Given the description of an element on the screen output the (x, y) to click on. 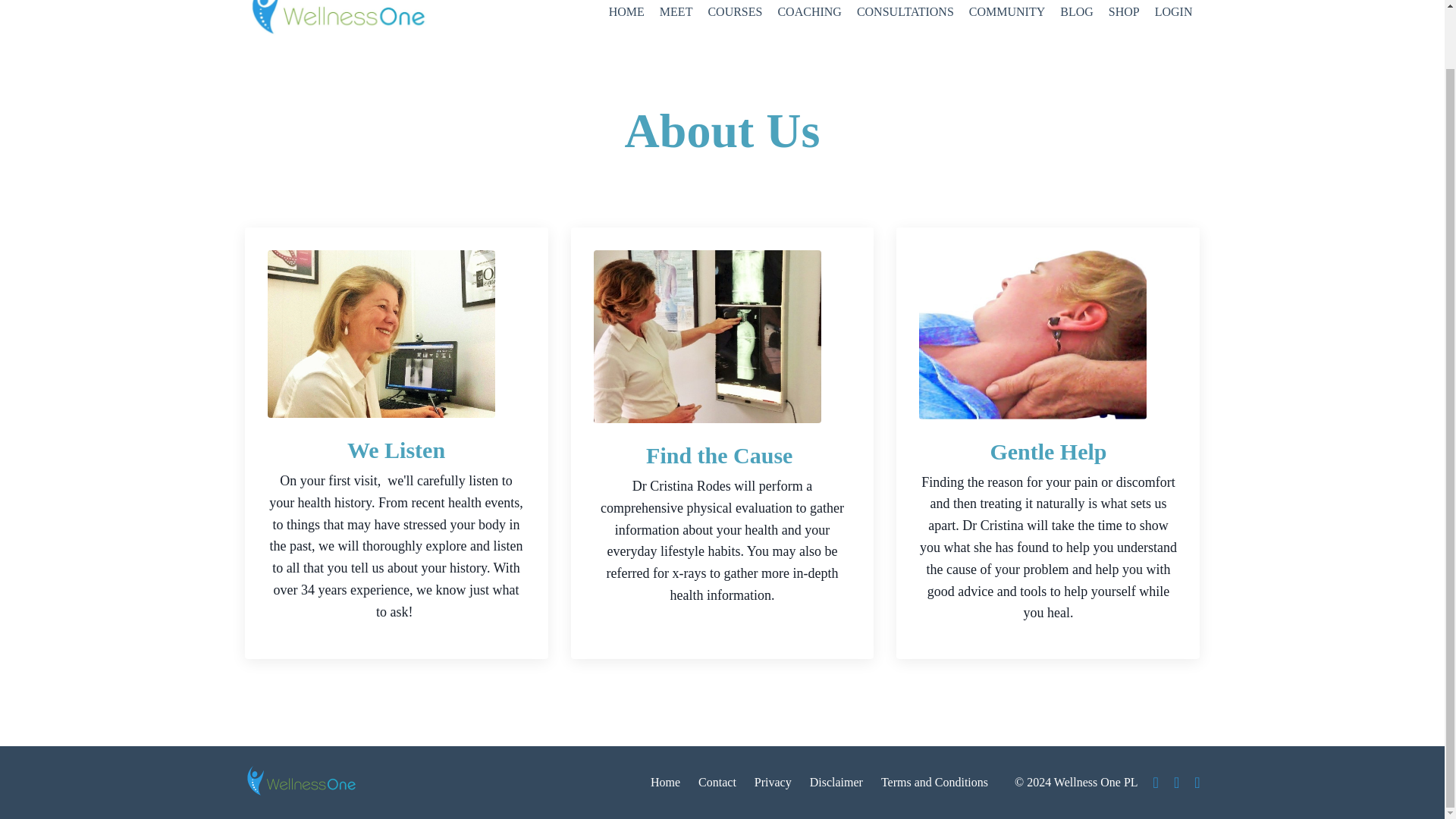
Home (664, 781)
LOGIN (1173, 11)
BLOG (1076, 12)
Contact (717, 781)
MEET (676, 12)
Disclaimer (836, 781)
SHOP (1124, 12)
Privacy (773, 781)
HOME (626, 12)
Terms and Conditions (934, 781)
